Given the description of an element on the screen output the (x, y) to click on. 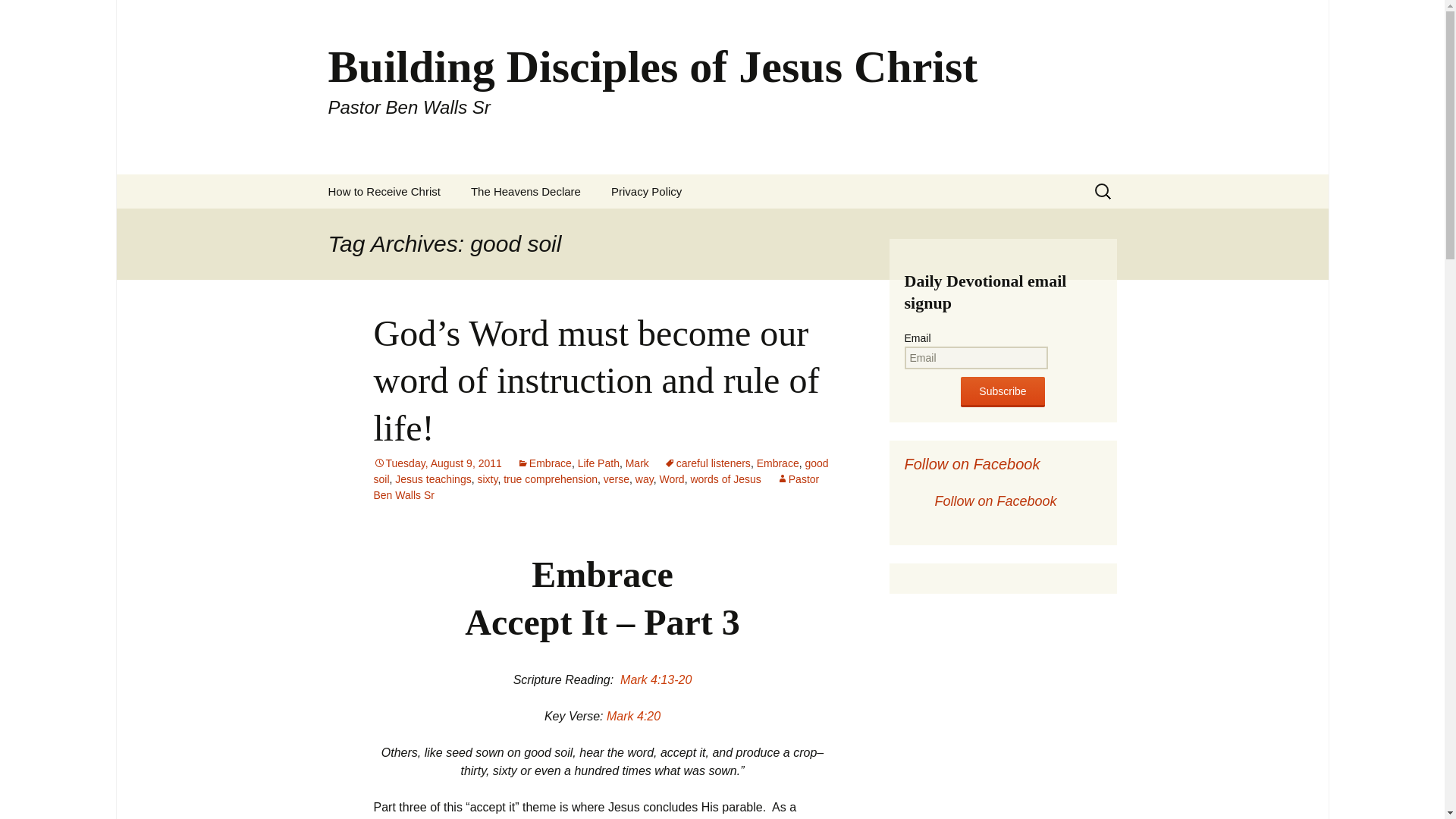
Privacy Policy (646, 191)
Subscribe (1001, 391)
careful listeners (707, 463)
Tuesday, August 9, 2011 (436, 463)
verse (616, 479)
sixty (487, 479)
Life Path (599, 463)
